Given the description of an element on the screen output the (x, y) to click on. 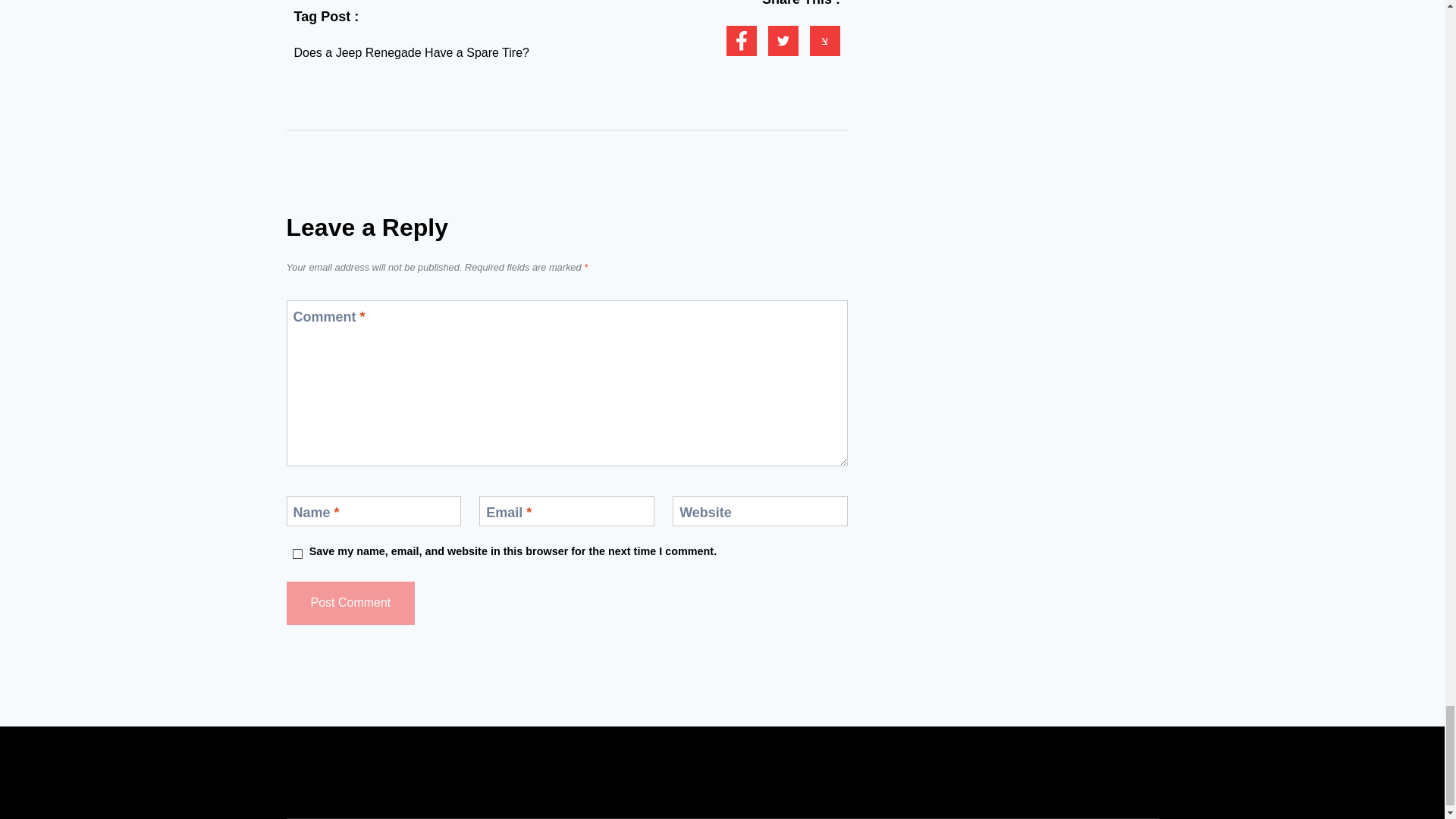
Post Comment (350, 602)
Post Comment (350, 602)
